Given the description of an element on the screen output the (x, y) to click on. 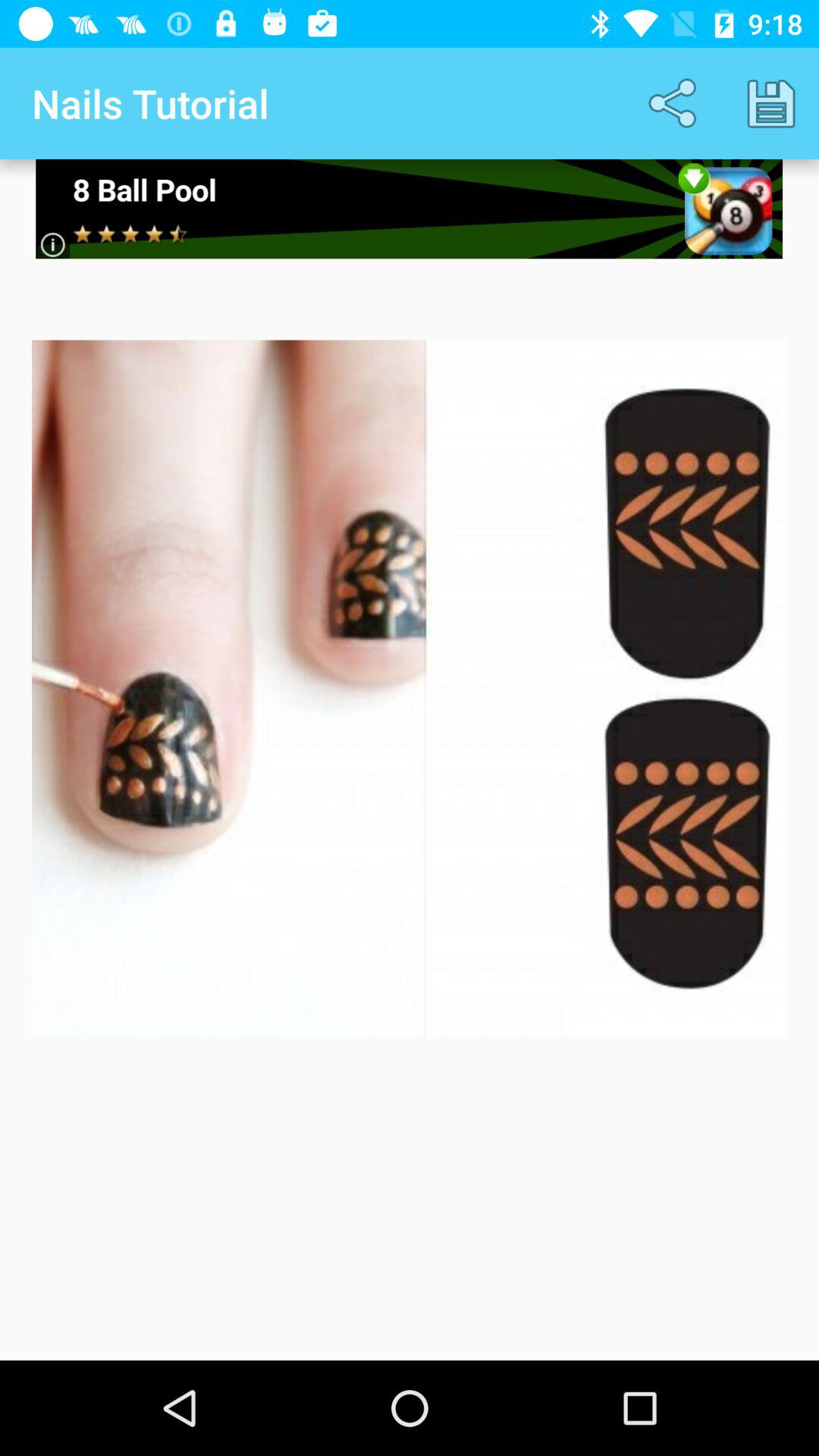
see advertisement (408, 208)
